Given the description of an element on the screen output the (x, y) to click on. 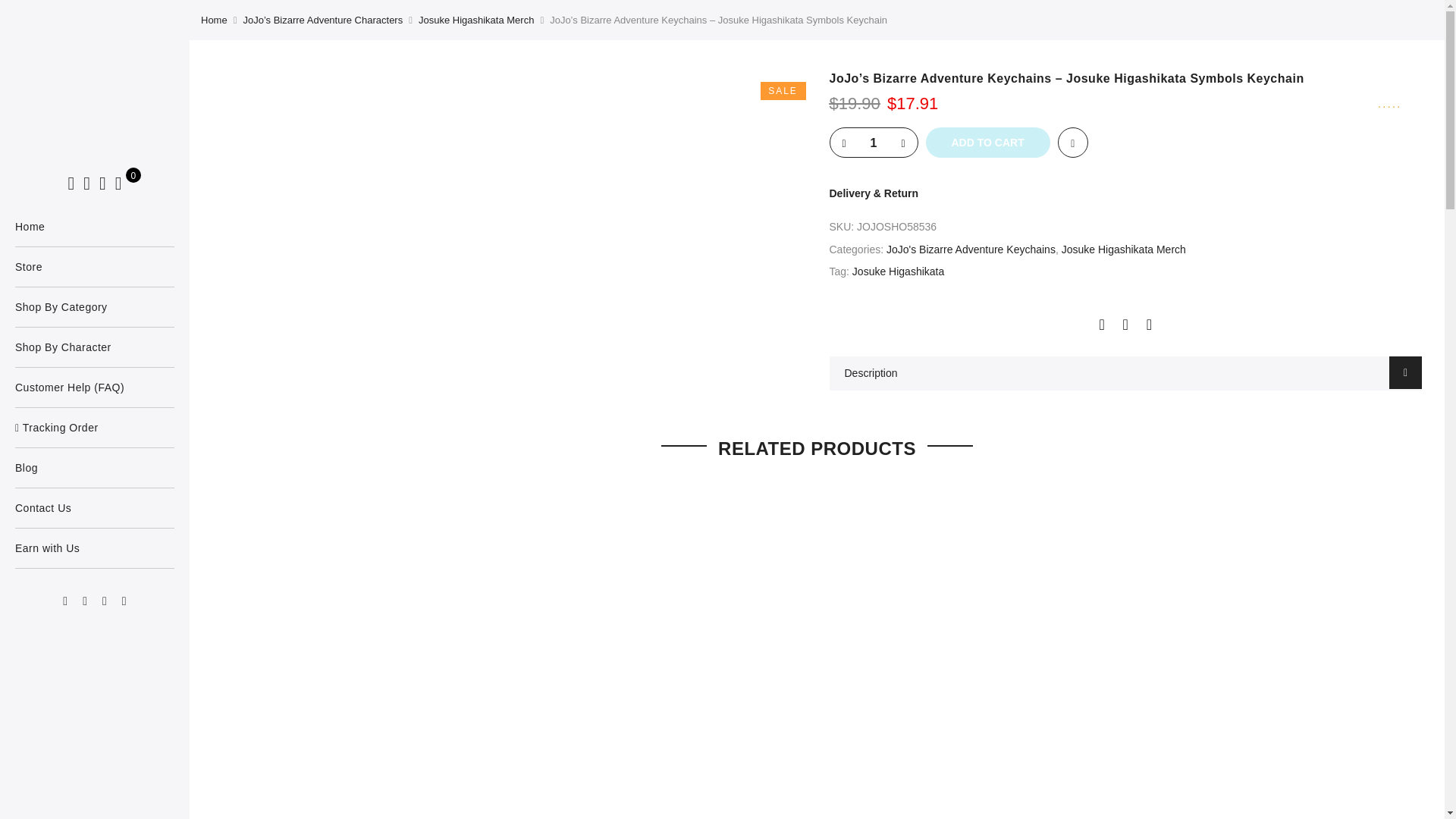
1 (873, 142)
Home (94, 226)
Shop By Category (94, 306)
Store (94, 266)
Qty (873, 142)
